Given the description of an element on the screen output the (x, y) to click on. 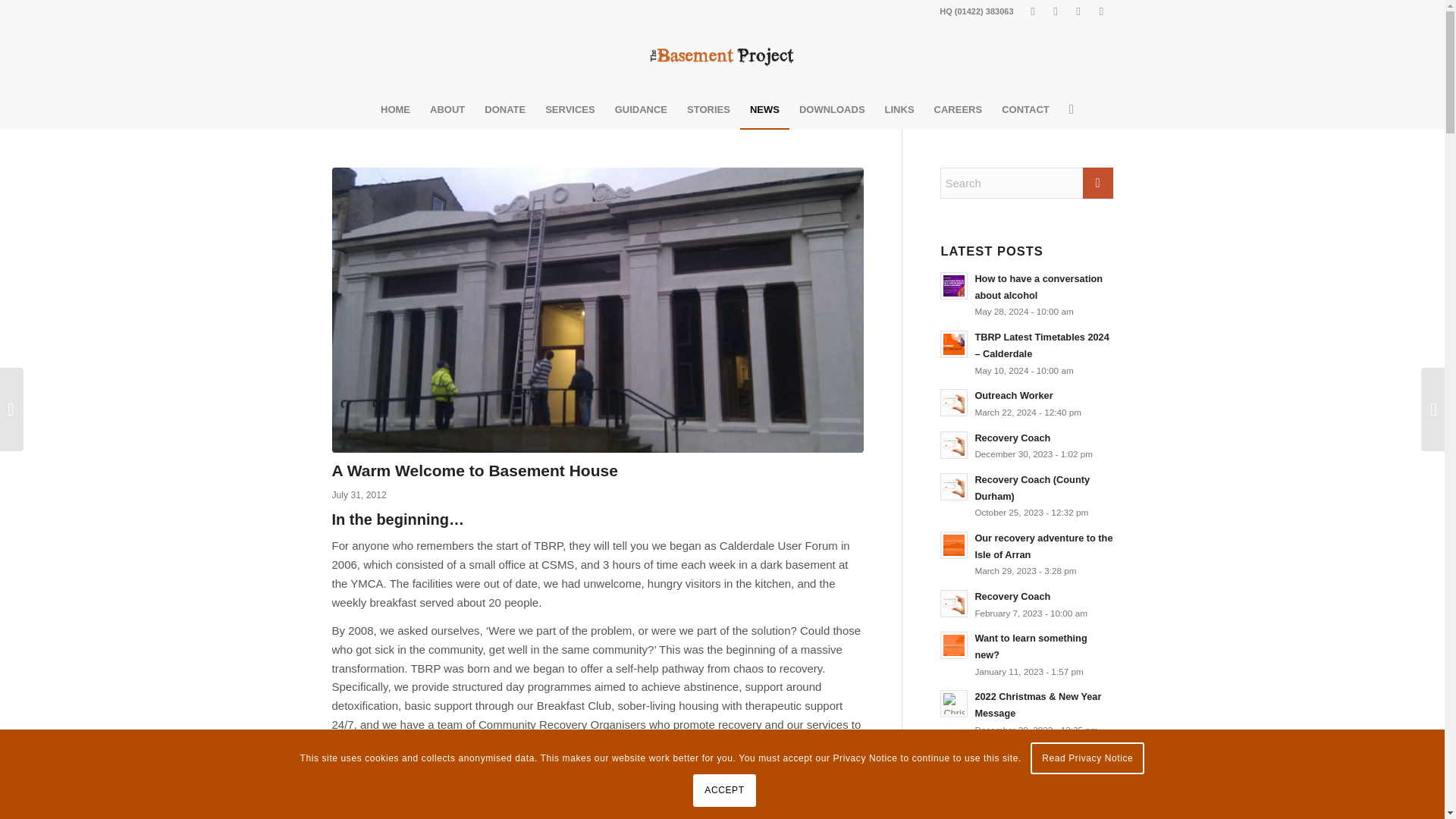
STORIES (708, 109)
X (1056, 11)
HOME (395, 109)
ABOUT (447, 109)
Facebook (1032, 11)
Mail (1101, 11)
Information on Addiction from TBRP (641, 109)
About TBRP Kirklees and Halifax (447, 109)
SERVICES (570, 109)
GUIDANCE (641, 109)
DONATE (504, 109)
Youtube (1078, 11)
